Given the description of an element on the screen output the (x, y) to click on. 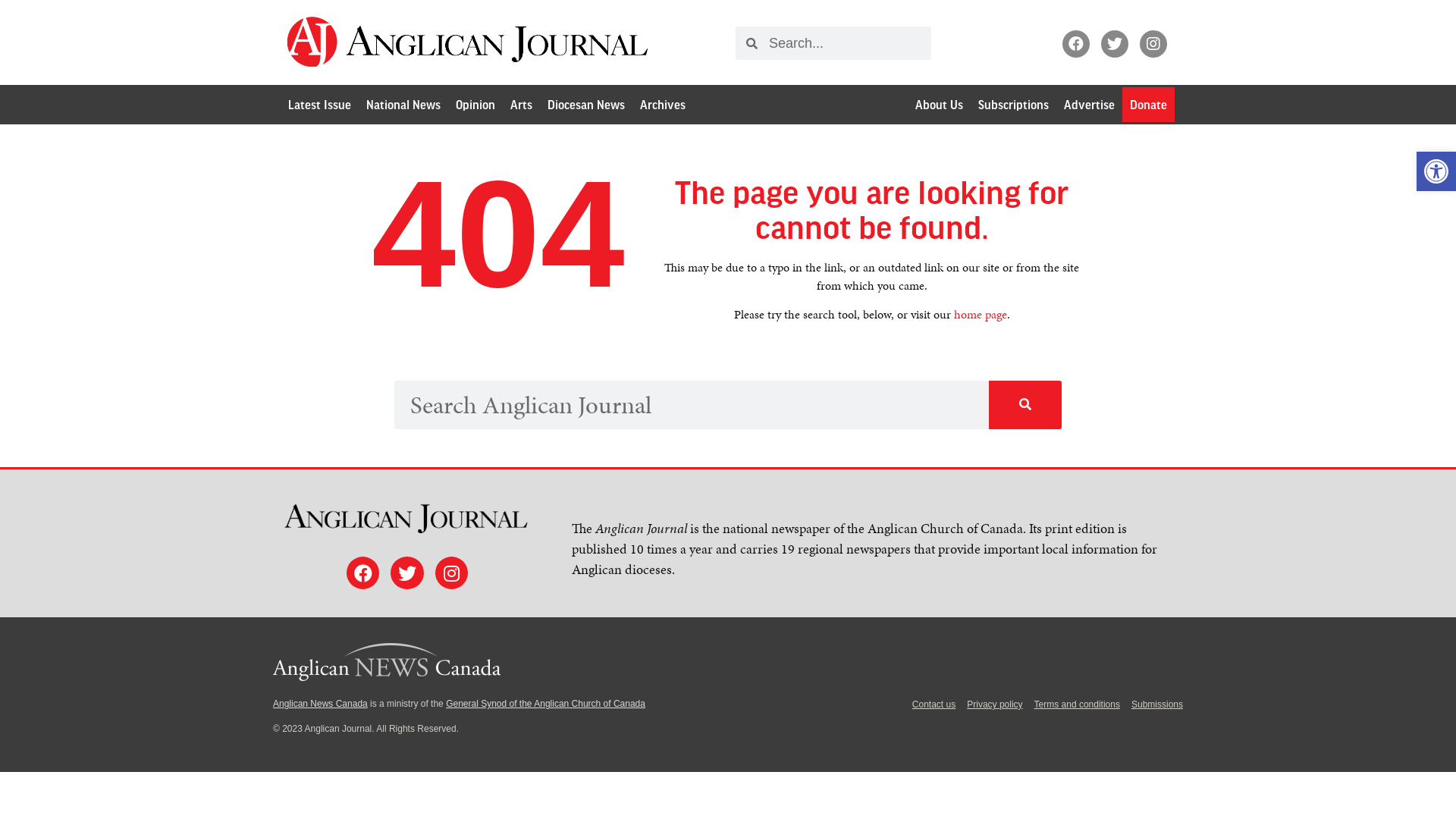
Arts Element type: text (520, 104)
Terms and conditions Element type: text (1077, 704)
About Us Element type: text (938, 104)
home page Element type: text (980, 314)
Archives Element type: text (662, 104)
Privacy policy Element type: text (994, 704)
General Synod of the Anglican Church of Canada Element type: text (545, 703)
Diocesan News Element type: text (585, 104)
Subscriptions Element type: text (1013, 104)
Latest Issue Element type: text (319, 104)
Anglican News Canada Element type: text (320, 703)
Submissions Element type: text (1157, 704)
National News Element type: text (403, 104)
Donate Element type: text (1148, 104)
Contact us Element type: text (933, 704)
Opinion Element type: text (475, 104)
Advertise Element type: text (1089, 104)
